Given the description of an element on the screen output the (x, y) to click on. 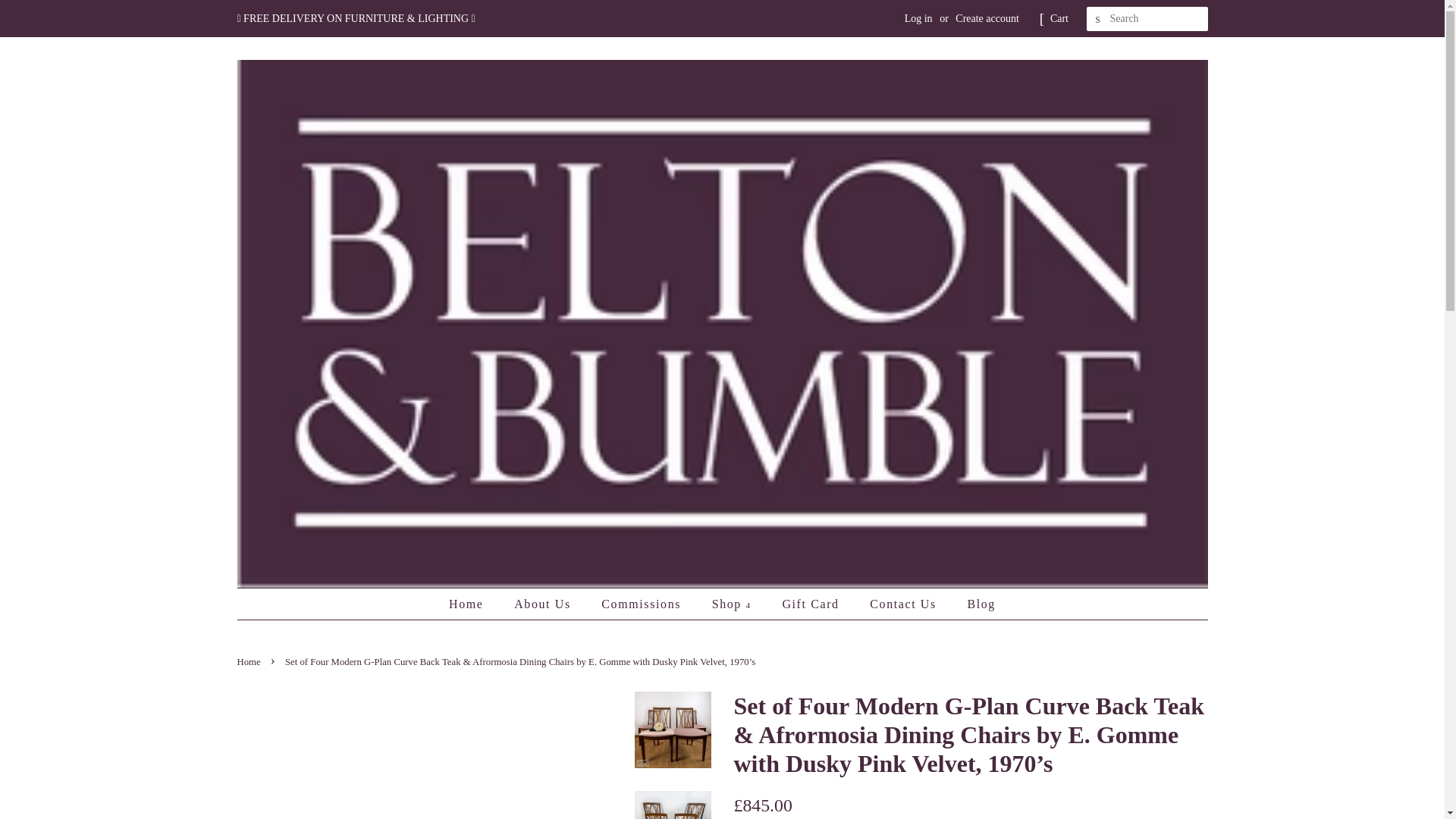
Create account (987, 18)
Back to the frontpage (249, 661)
Log in (918, 18)
Cart (1058, 18)
Search (1097, 18)
